Given the description of an element on the screen output the (x, y) to click on. 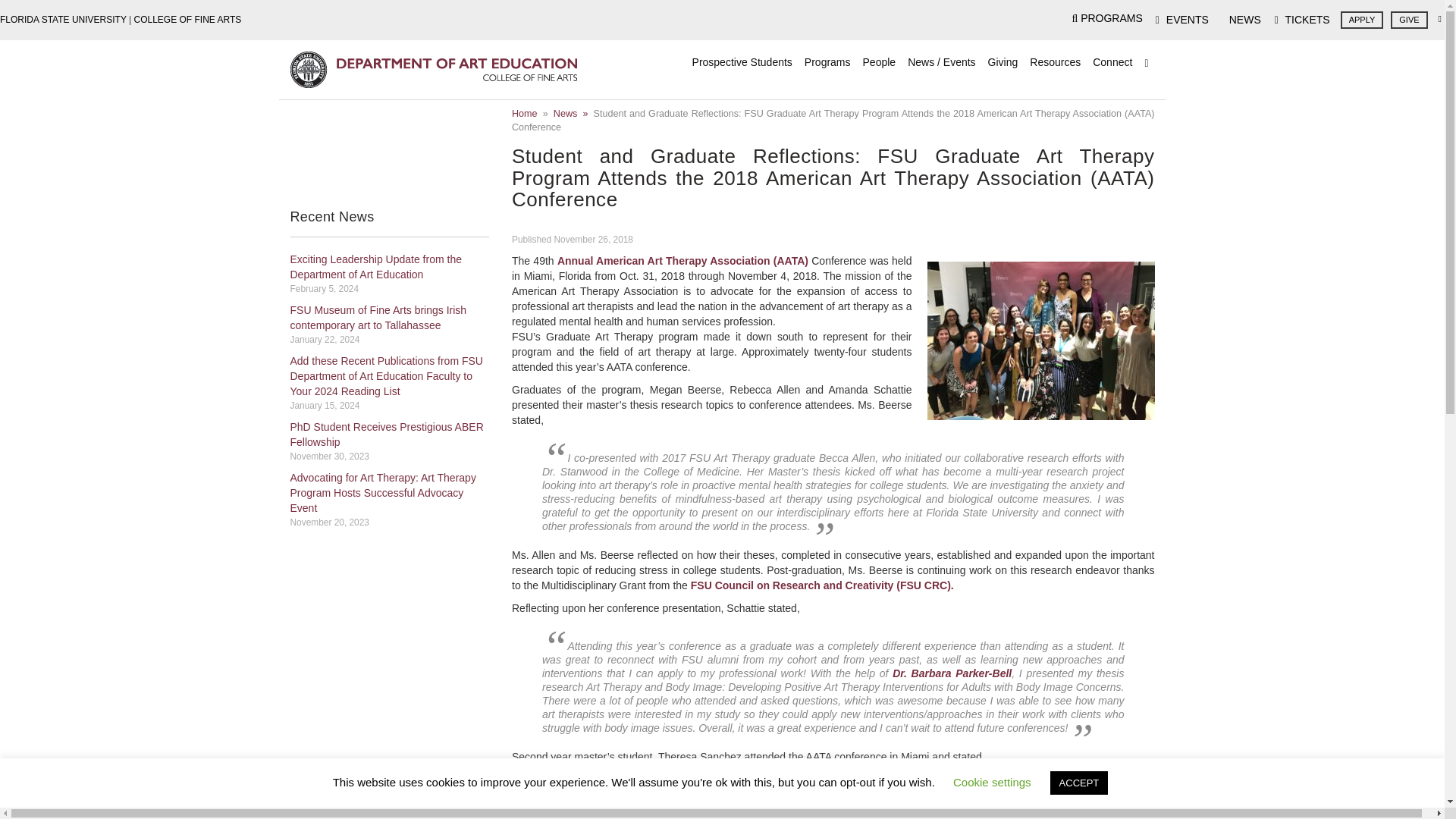
COLLEGE OF FINE ARTS (187, 19)
TICKETS (1302, 19)
FSU Sites (1439, 18)
APPLY (1362, 19)
GIVE (1408, 19)
PROGRAMS (1106, 18)
Department of Art Education (432, 69)
NEWS (1241, 19)
FLORIDA STATE UNIVERSITY (64, 19)
EVENTS (1182, 19)
